Given the description of an element on the screen output the (x, y) to click on. 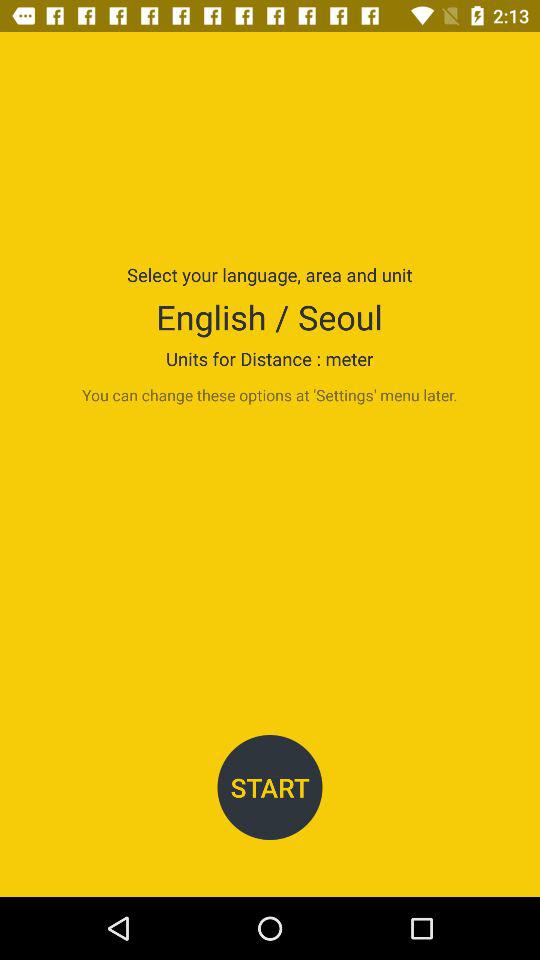
choose the icon below the you can change (269, 787)
